Given the description of an element on the screen output the (x, y) to click on. 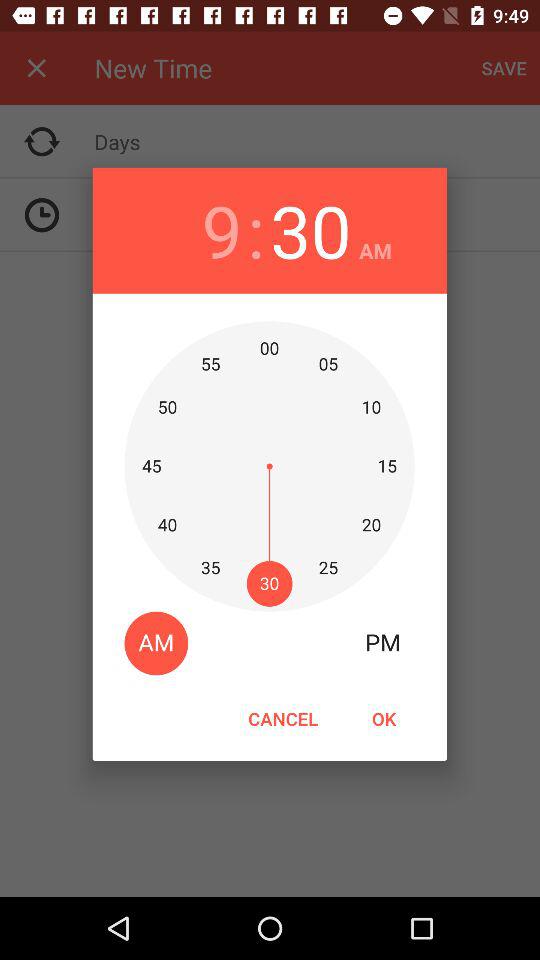
choose icon next to the cancel item (383, 718)
